Given the description of an element on the screen output the (x, y) to click on. 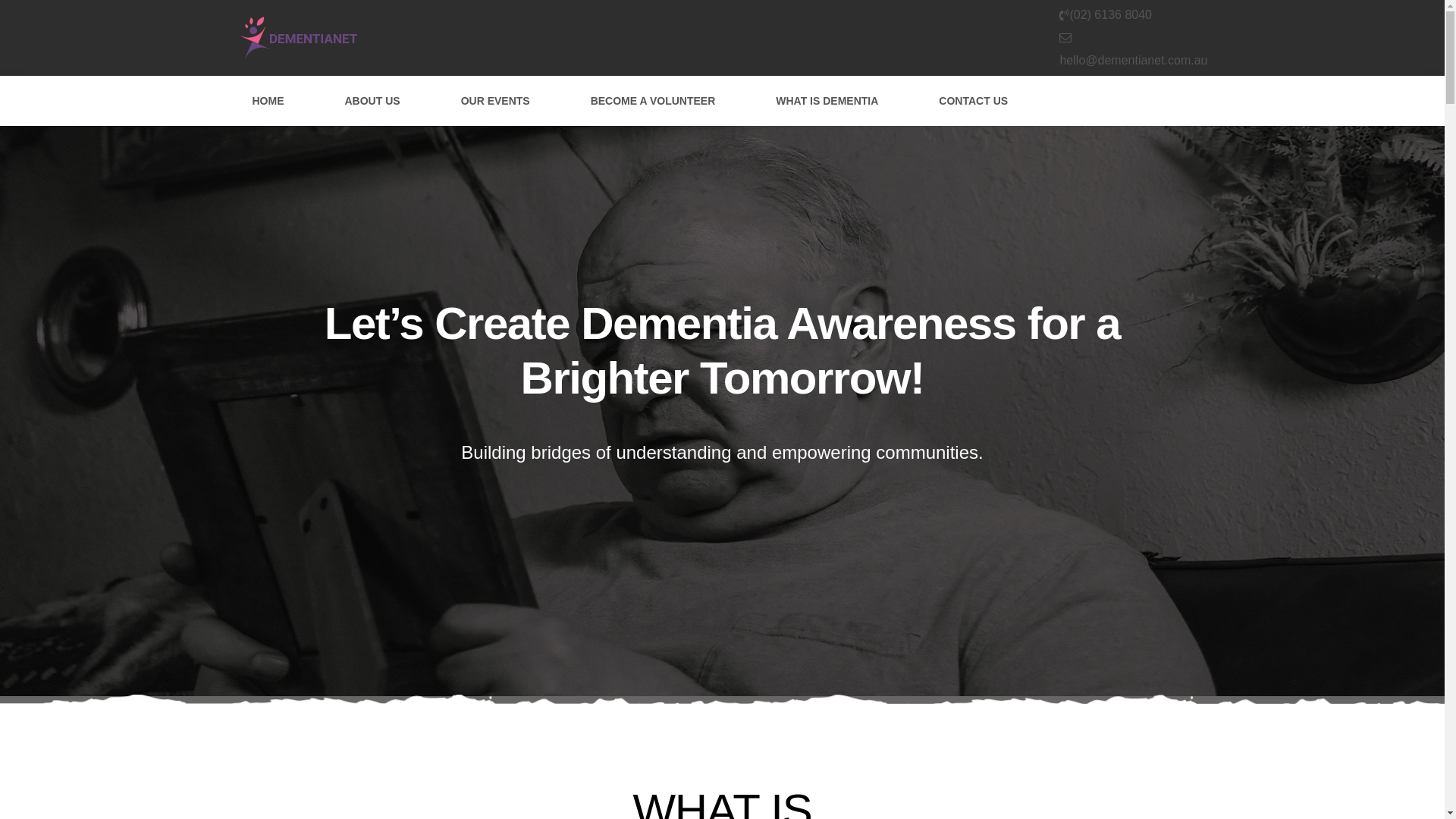
WHAT IS DEMENTIA Element type: text (826, 100)
(02) 6136 8040 Element type: text (1110, 14)
hello@dementianet.com.au Element type: text (1133, 59)
ABOUT US Element type: text (371, 100)
CONTACT US Element type: text (972, 100)
BECOME A VOLUNTEER Element type: text (653, 100)
HOME Element type: text (267, 100)
OUR EVENTS Element type: text (495, 100)
